Given the description of an element on the screen output the (x, y) to click on. 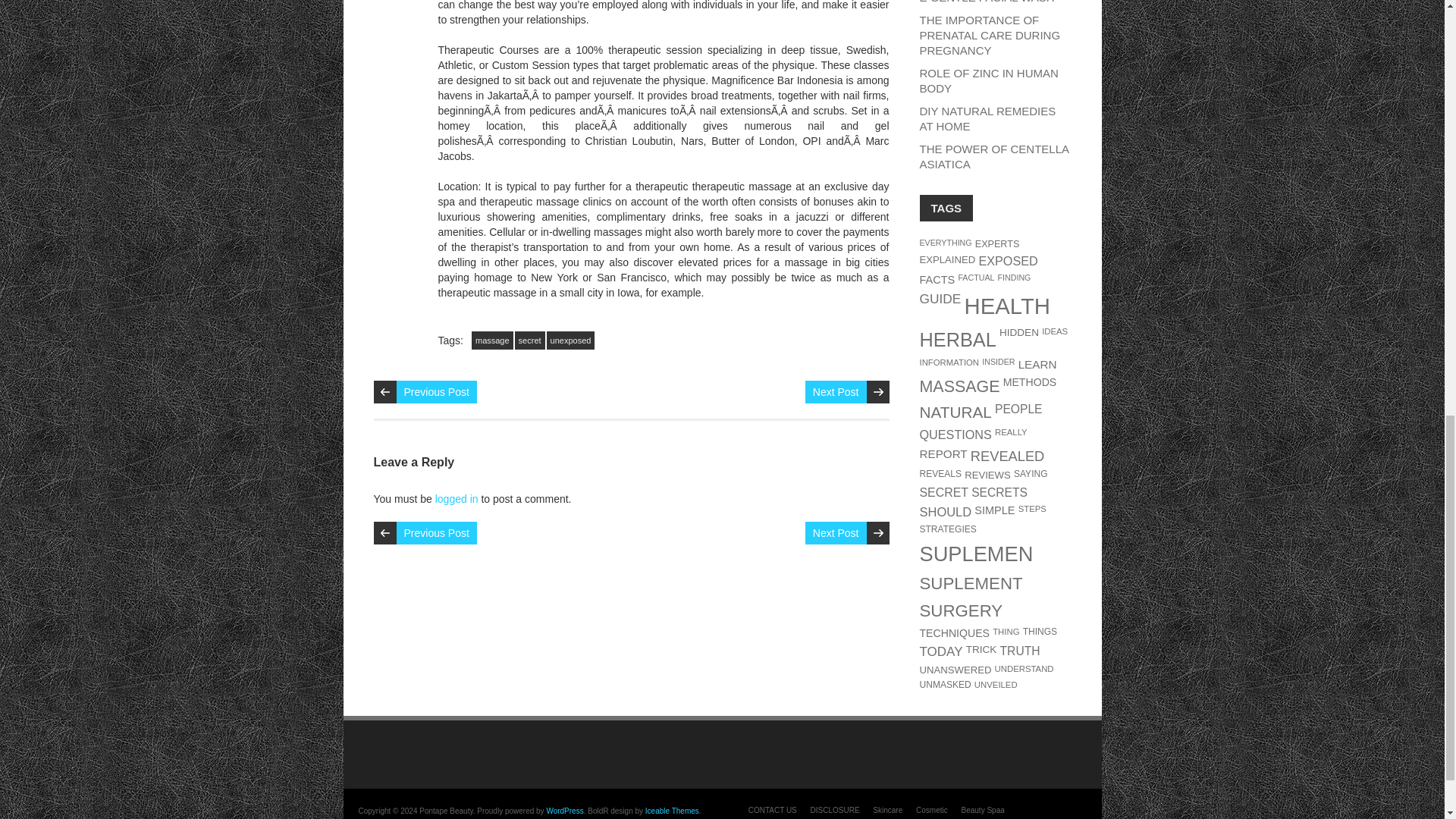
THE BODY SHOP VITAMIN E GENTLE FACIAL WASH (989, 2)
secret (529, 340)
Previous Post (436, 391)
unexposed (571, 340)
THE IMPORTANCE OF PRENATAL CARE DURING PREGNANCY (988, 34)
Free and Premium WordPress Themes (671, 810)
Semantic Personal Publishing Platform (564, 810)
Next Post (835, 532)
Previous Post (436, 532)
logged in (457, 499)
Next Post (835, 391)
massage (492, 340)
